Given the description of an element on the screen output the (x, y) to click on. 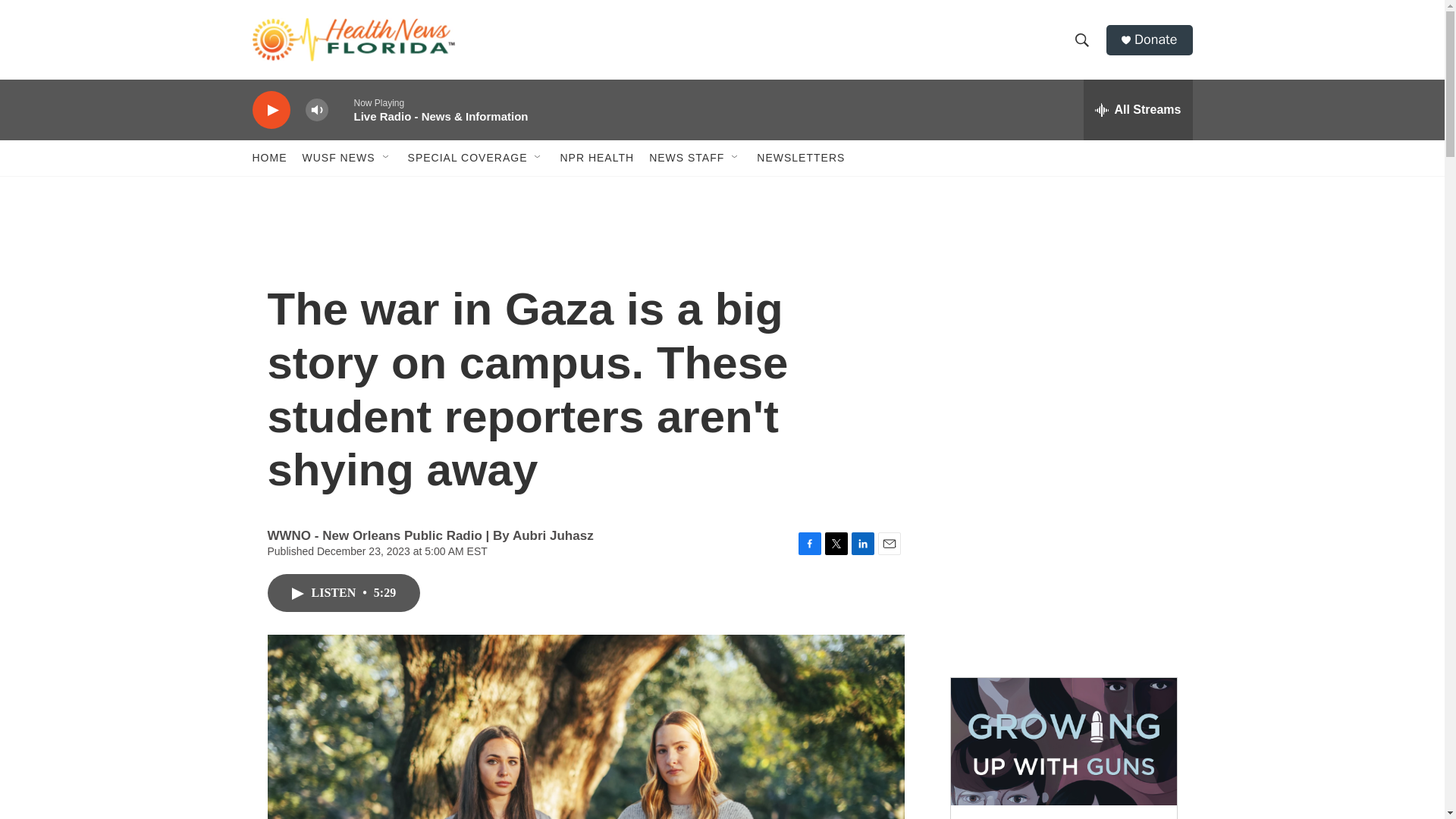
3rd party ad content (1062, 331)
3rd party ad content (1062, 552)
